Given the description of an element on the screen output the (x, y) to click on. 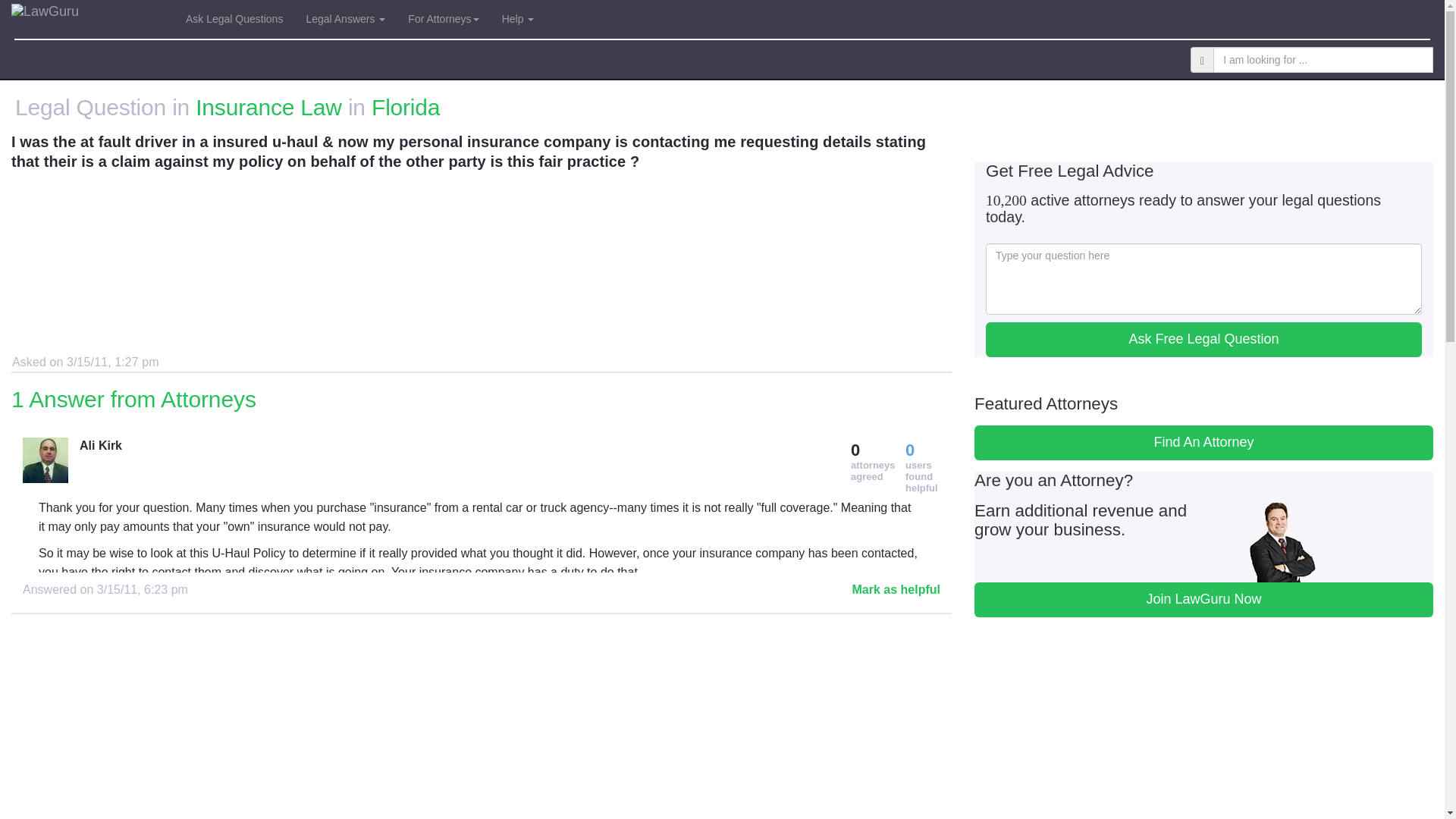
Insurance Law (268, 107)
Help (518, 18)
Legal Answers (345, 18)
Florida (405, 107)
Ali Kirk (378, 446)
For Attorneys (442, 18)
Mark as helpful (895, 589)
Ask Legal Questions (234, 18)
